Given the description of an element on the screen output the (x, y) to click on. 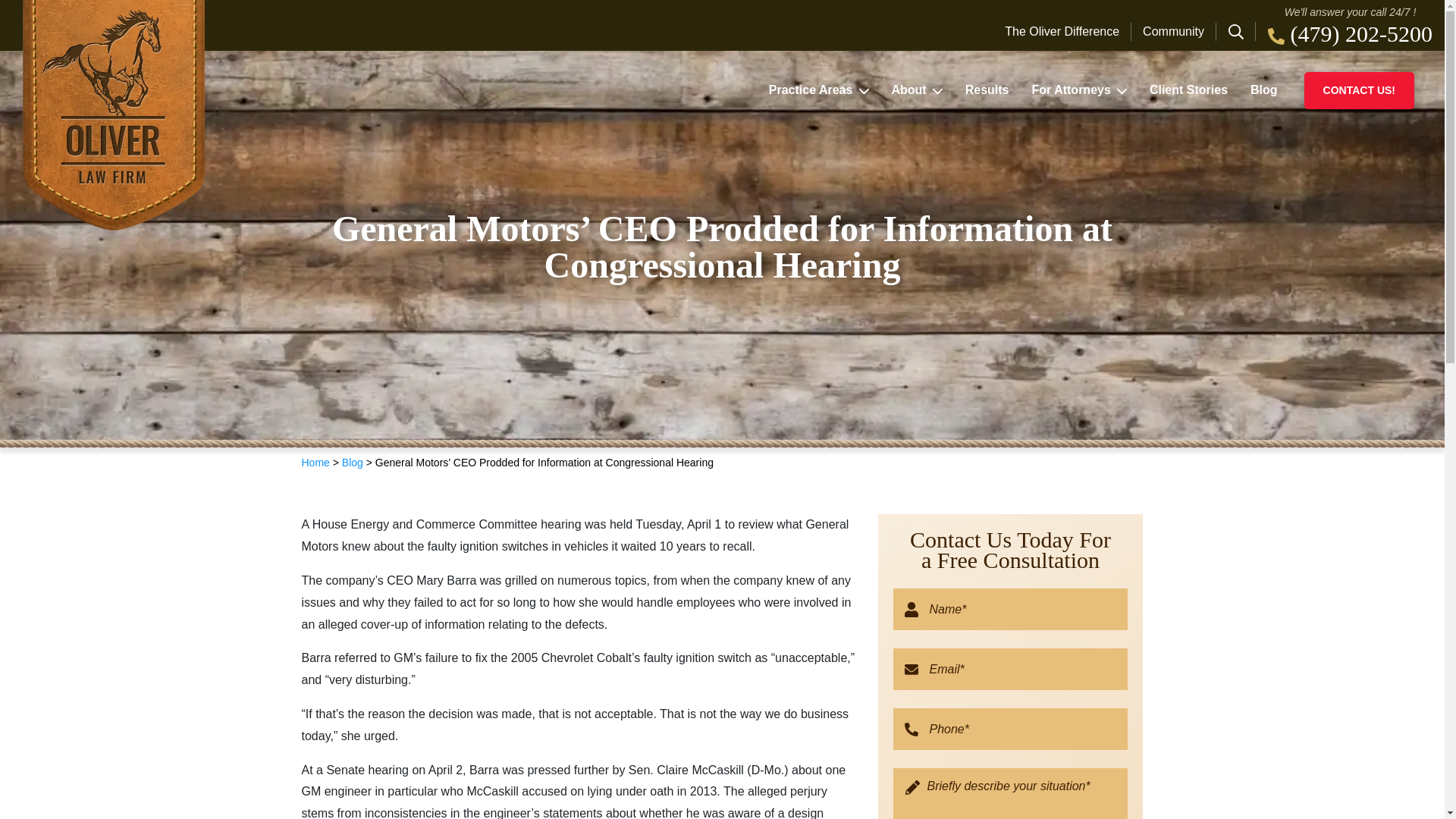
Home (315, 462)
Community (1173, 31)
Blog (1263, 89)
CONTACT US! (1358, 89)
Blog (352, 462)
Client Stories (1188, 89)
The Oliver Difference (1067, 31)
Results (986, 89)
